Given the description of an element on the screen output the (x, y) to click on. 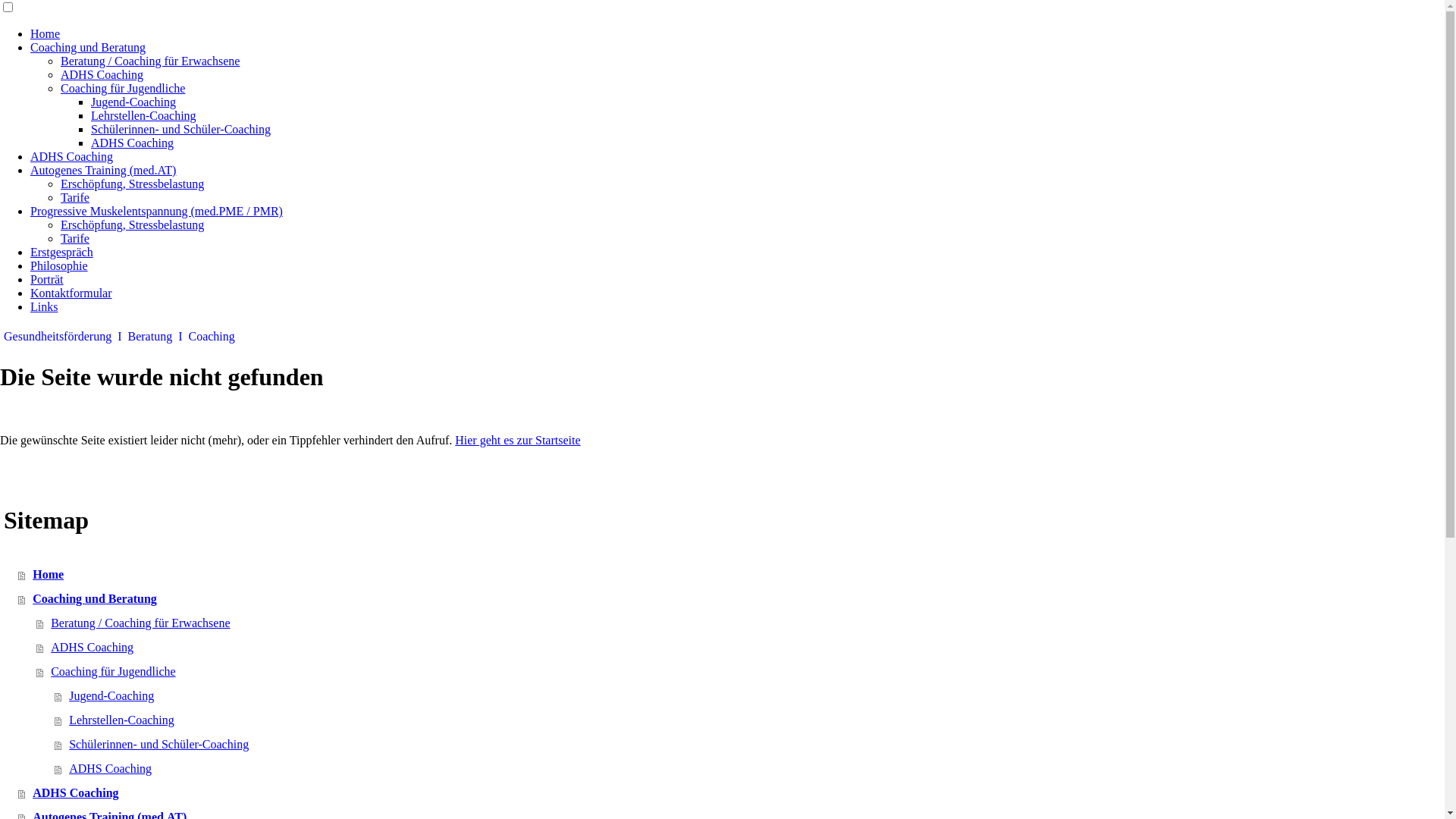
Philosophie Element type: text (58, 265)
Jugend-Coaching Element type: text (133, 101)
Lehrstellen-Coaching Element type: text (143, 115)
Coaching und Beratung Element type: text (731, 598)
Progressive Muskelentspannung (med.PME / PMR) Element type: text (156, 210)
Links Element type: text (43, 306)
ADHS Coaching Element type: text (132, 142)
ADHS Coaching Element type: text (731, 793)
Home Element type: text (731, 574)
Lehrstellen-Coaching Element type: text (749, 720)
Kontaktformular Element type: text (71, 292)
ADHS Coaching Element type: text (740, 647)
ADHS Coaching Element type: text (71, 156)
ADHS Coaching Element type: text (749, 768)
Autogenes Training (med.AT) Element type: text (102, 169)
Coaching und Beratung Element type: text (87, 46)
Jugend-Coaching Element type: text (749, 696)
Tarife Element type: text (74, 238)
ADHS Coaching Element type: text (101, 74)
Tarife Element type: text (74, 197)
Hier geht es zur Startseite Element type: text (517, 439)
Home Element type: text (44, 33)
